Given the description of an element on the screen output the (x, y) to click on. 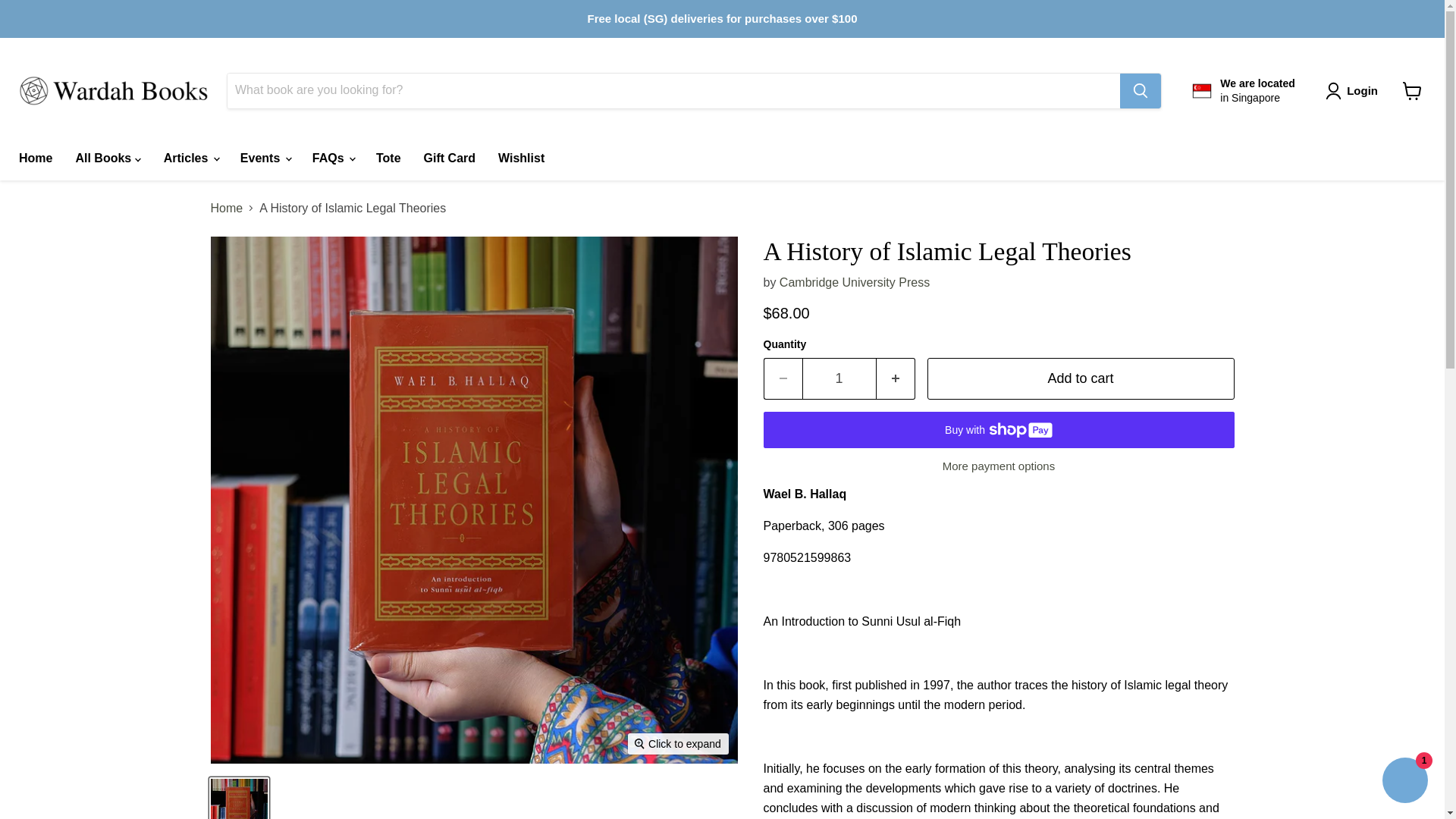
View cart (1411, 90)
Login (1354, 90)
Home (35, 158)
Shopify online store chat (1404, 781)
Cambridge University Press (854, 282)
1 (1243, 90)
